Given the description of an element on the screen output the (x, y) to click on. 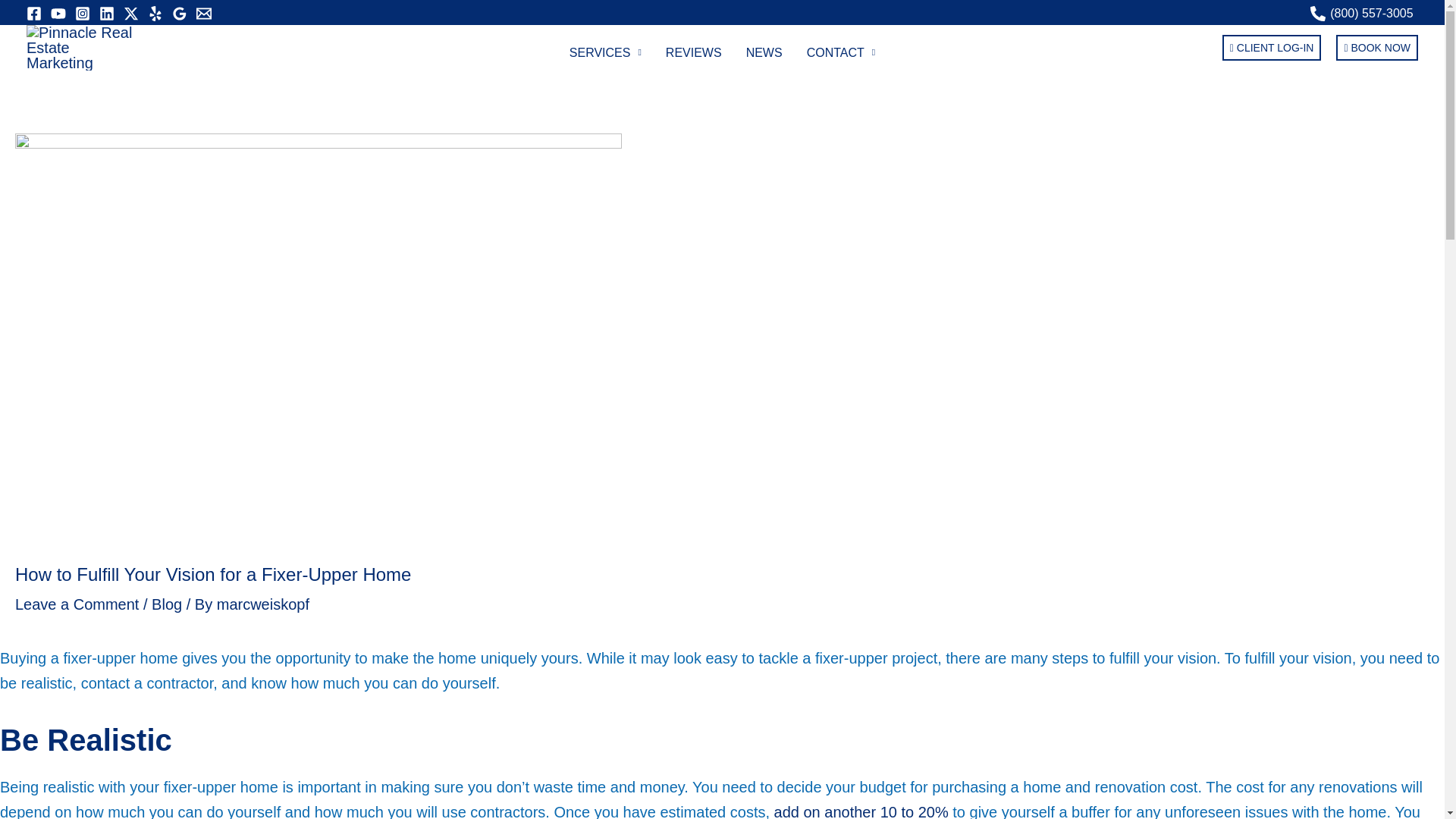
View all posts by marcweiskopf (262, 604)
SERVICES (605, 52)
